Given the description of an element on the screen output the (x, y) to click on. 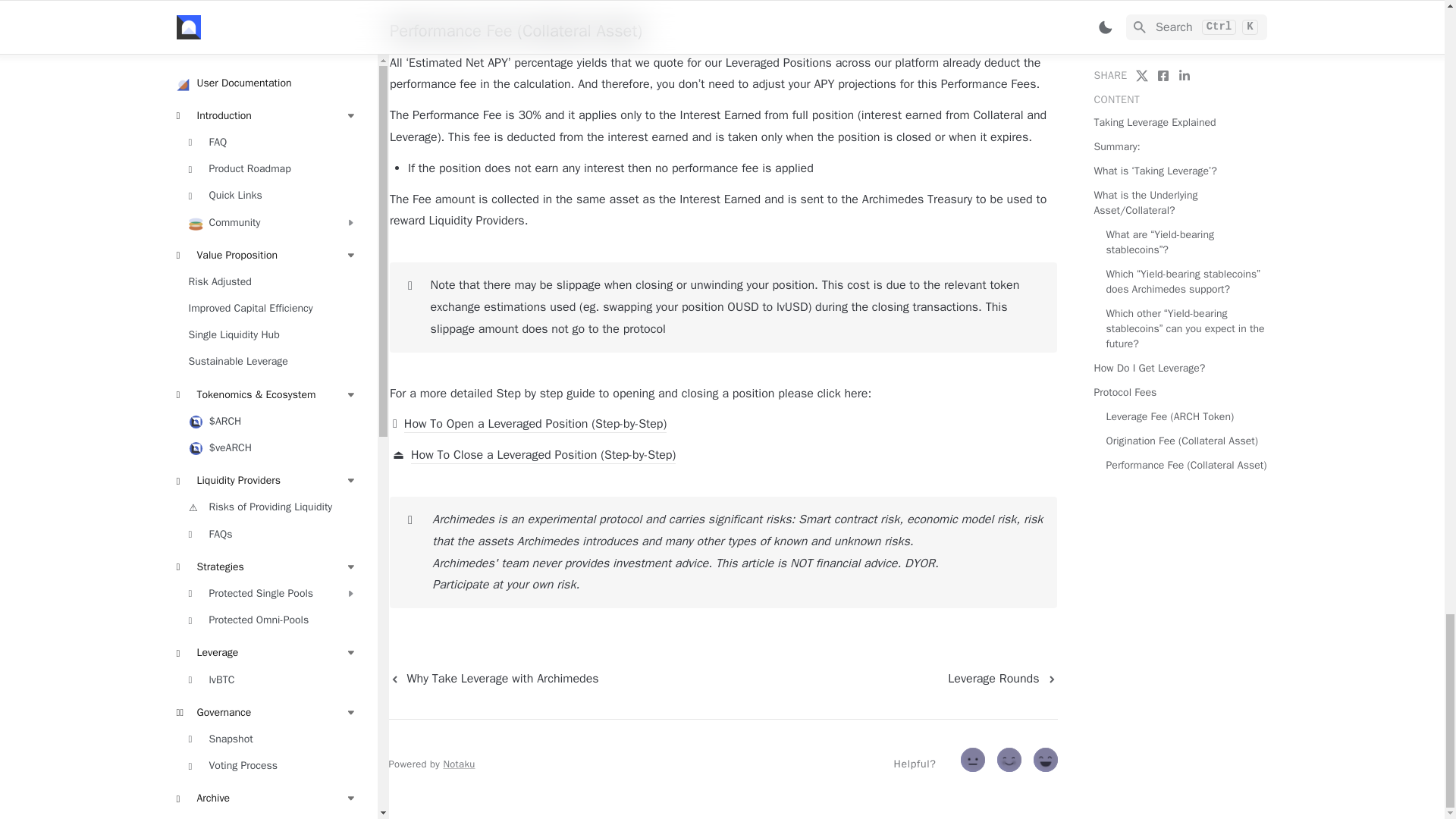
2 (1047, 762)
0 (974, 762)
1 (1010, 762)
